Given the description of an element on the screen output the (x, y) to click on. 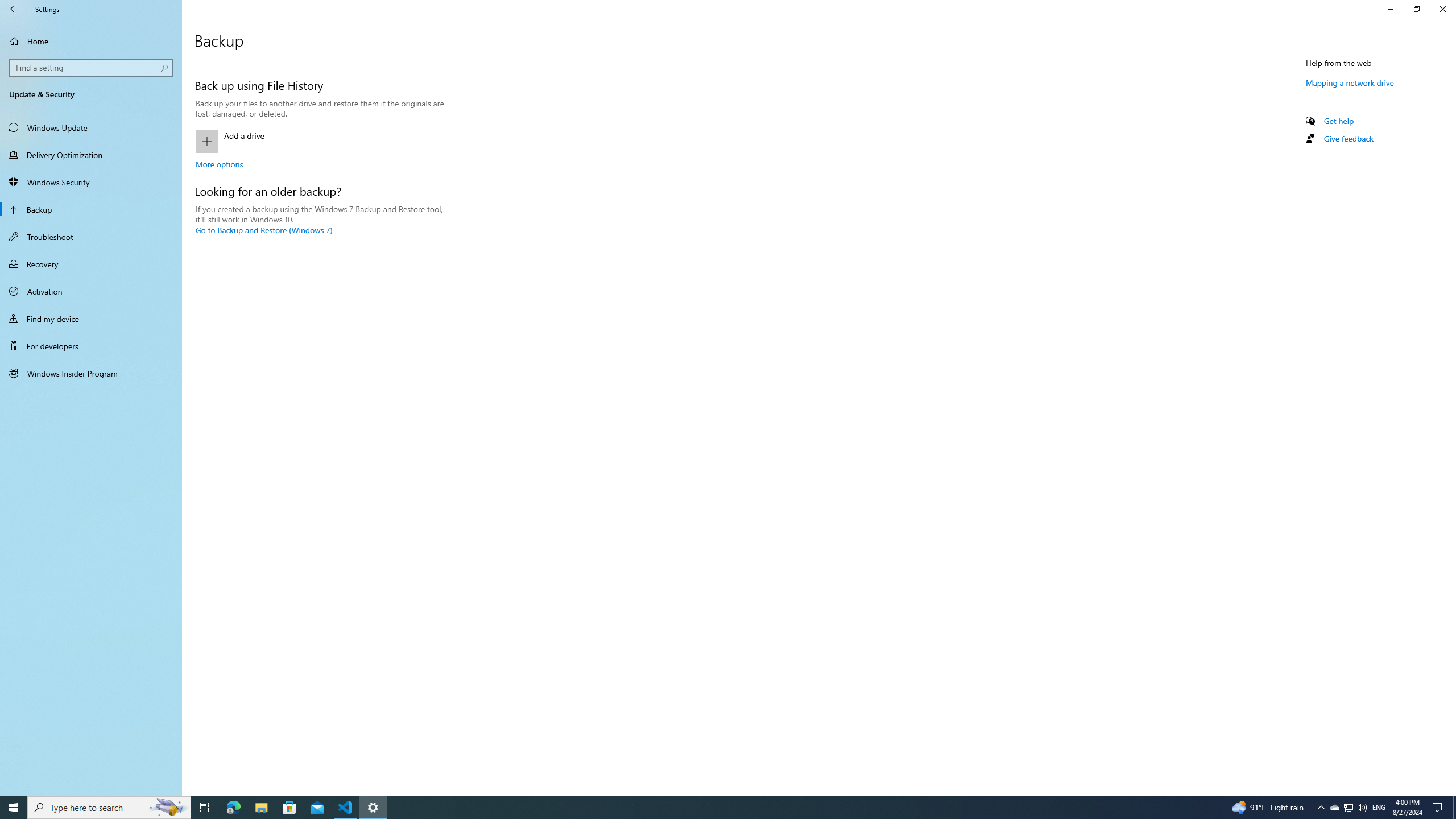
Activation (91, 290)
User Promoted Notification Area (1347, 807)
Type here to search (108, 807)
Restore Settings (1416, 9)
Delivery Optimization (91, 154)
Find my device (91, 318)
Go to Backup and Restore (Windows 7) (1347, 807)
Search highlights icon opens search home window (264, 229)
Search box, Find a setting (167, 807)
Settings - 1 running window (1333, 807)
Microsoft Edge (91, 67)
Backup (373, 807)
Show desktop (233, 807)
